Given the description of an element on the screen output the (x, y) to click on. 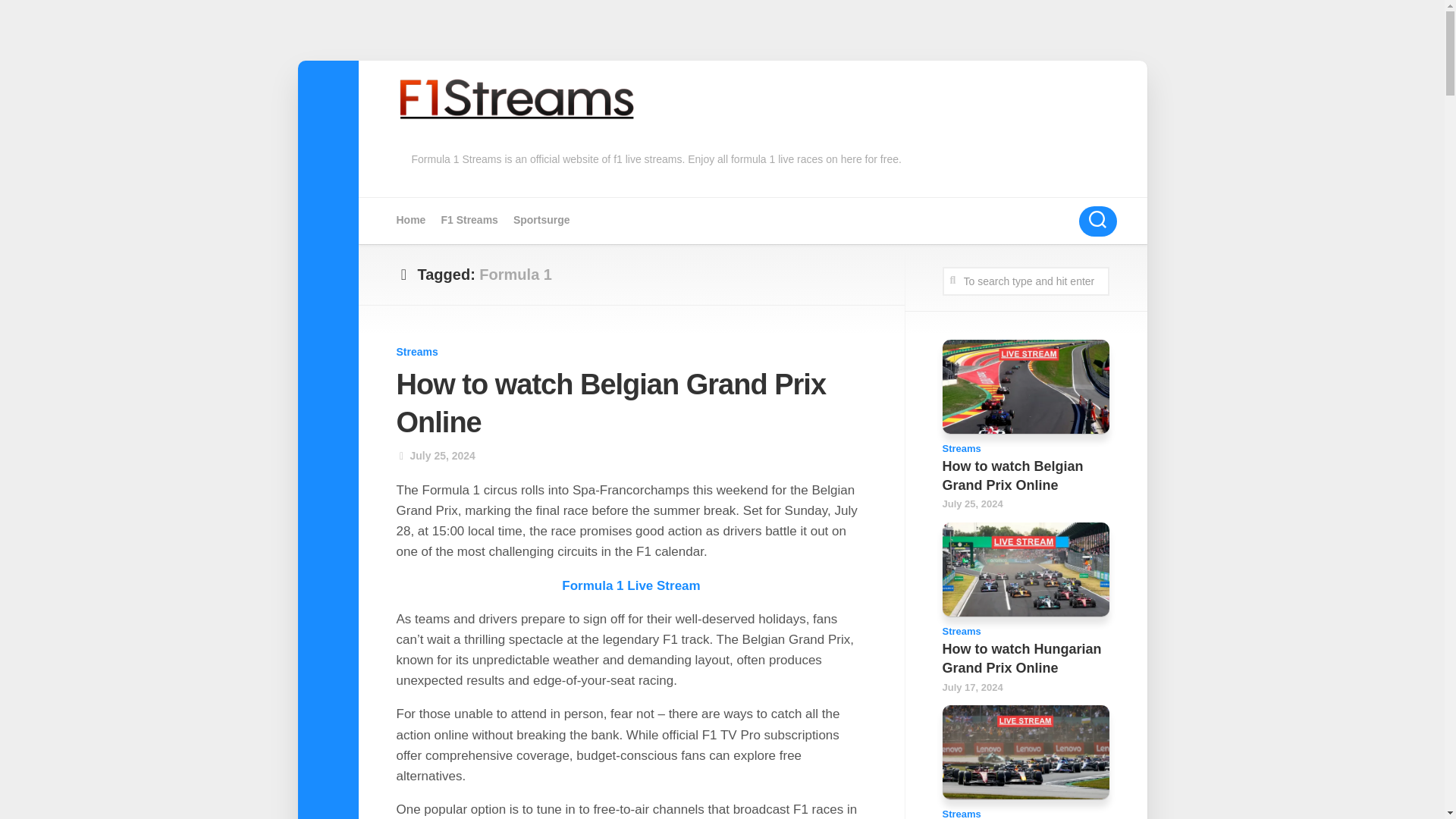
Streams (417, 351)
Formula 1 Live Stream (631, 585)
Sportsurge (541, 219)
Home (410, 219)
Formula 1 Streams (469, 219)
How to watch Belgian Grand Prix Online (610, 402)
F1 Streams (469, 219)
To search type and hit enter (1025, 280)
To search type and hit enter (1025, 280)
